Given the description of an element on the screen output the (x, y) to click on. 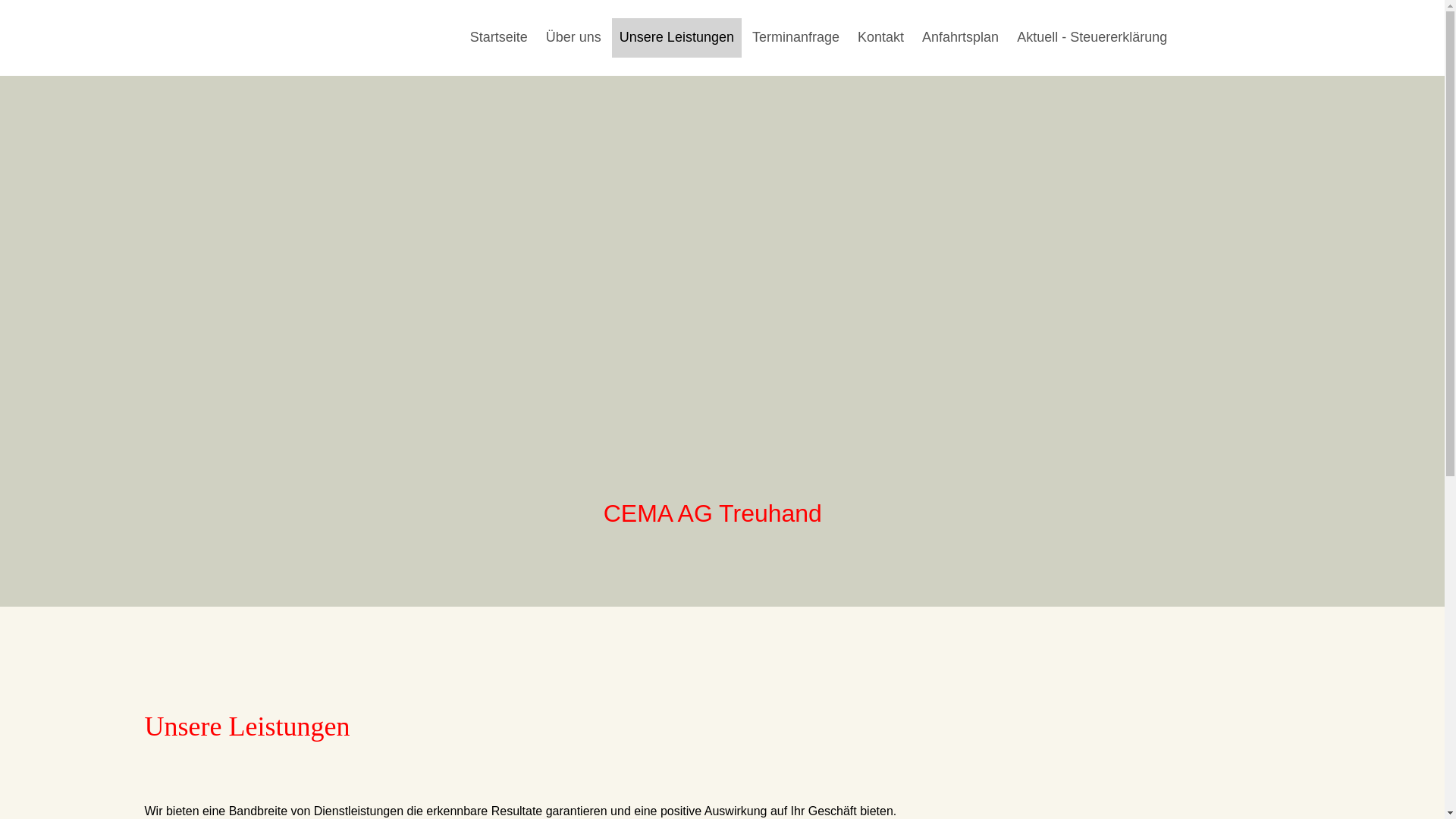
Startseite Element type: text (498, 36)
Kontakt Element type: text (880, 36)
Anfahrtsplan Element type: text (960, 36)
Terminanfrage Element type: text (795, 36)
Unsere Leistungen Element type: text (676, 36)
